Given the description of an element on the screen output the (x, y) to click on. 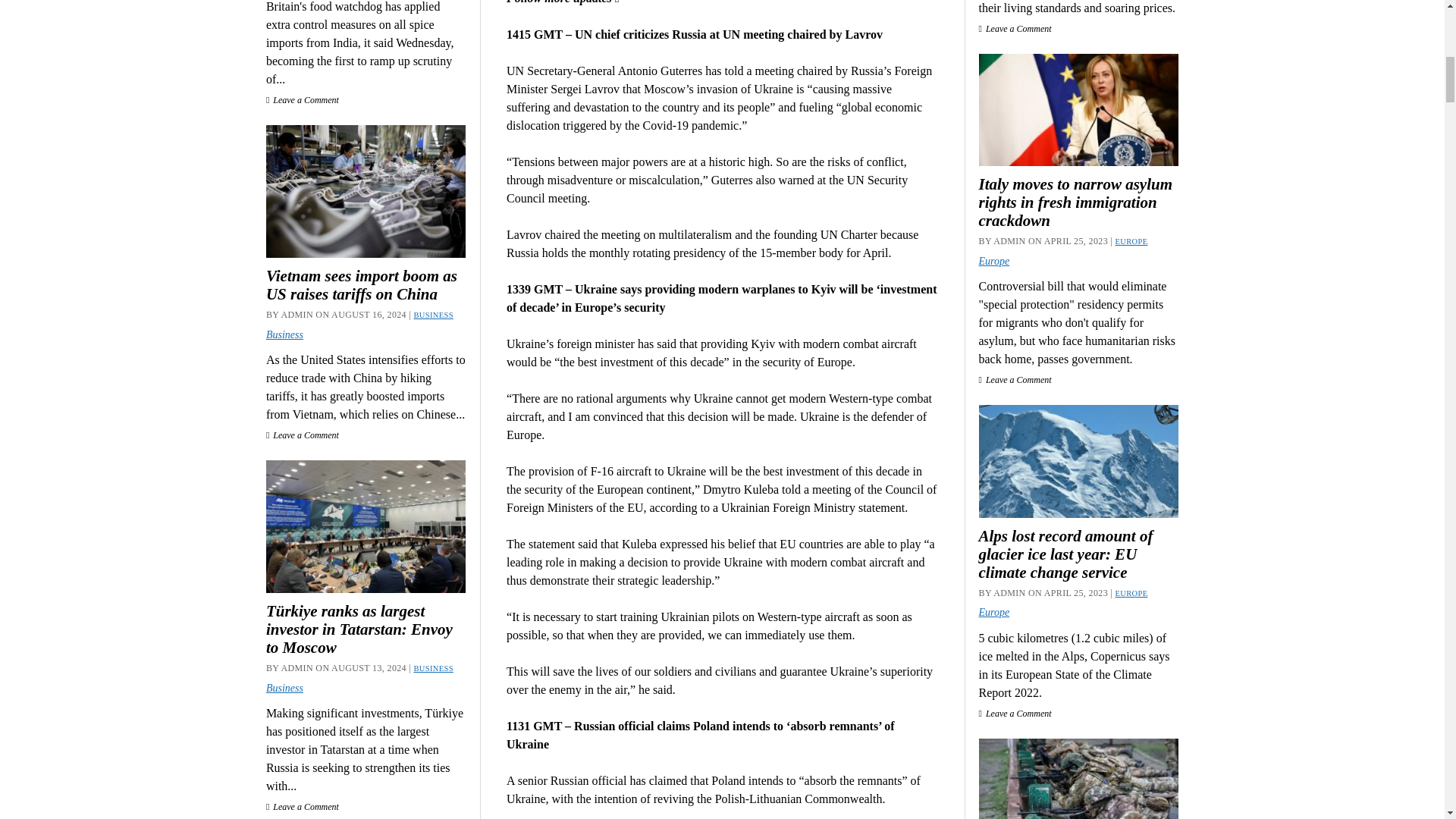
BUSINESS (432, 315)
View all posts in Business (432, 315)
Vietnam sees import boom as US raises tariffs on China (365, 284)
Leave a Comment (302, 434)
BUSINESS (432, 668)
Business (284, 334)
View all posts in Business (432, 668)
Leave a Comment (302, 100)
